Given the description of an element on the screen output the (x, y) to click on. 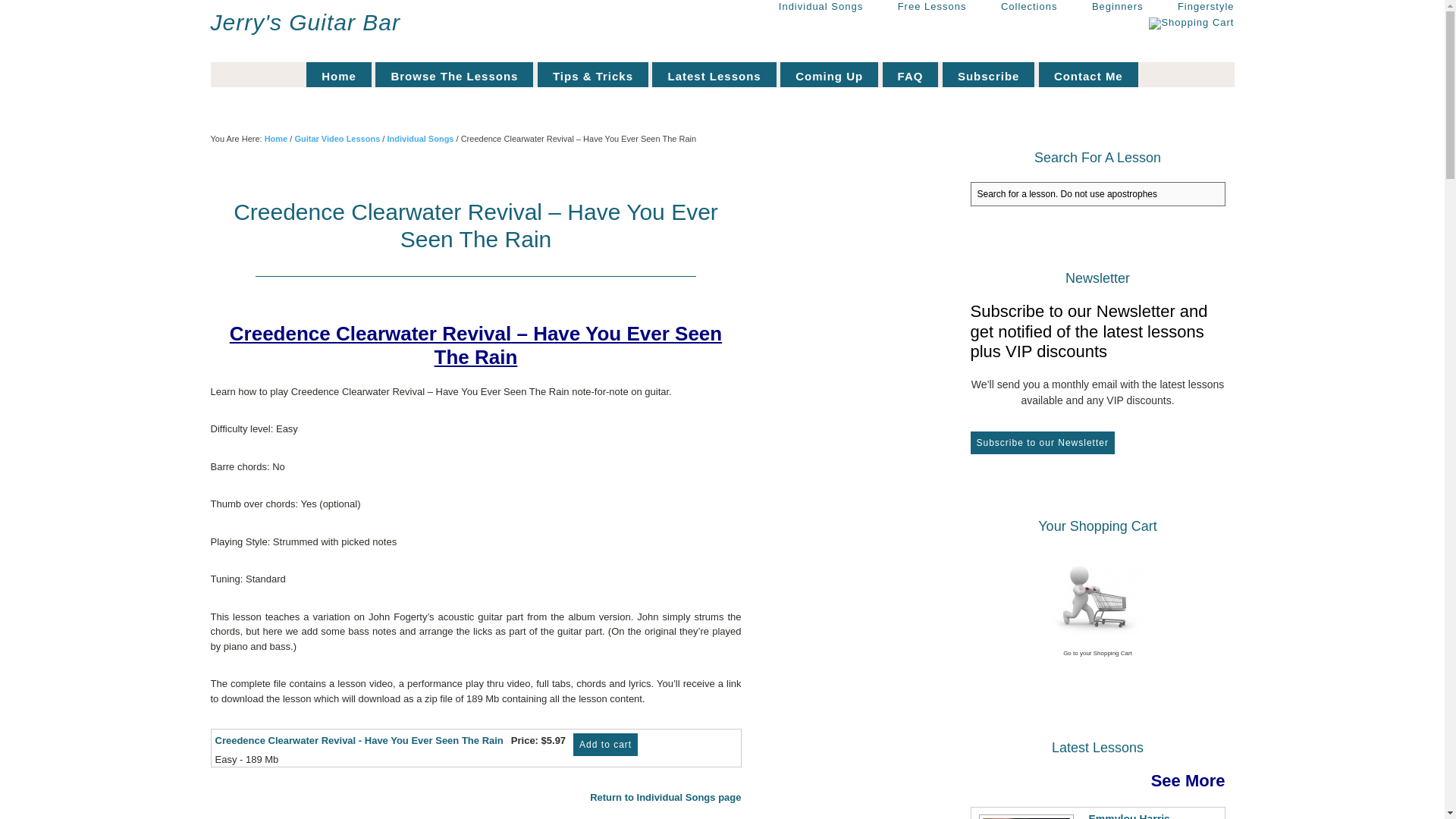
Latest Lessons (714, 74)
Collections (1014, 8)
Beginners (1101, 8)
Add to cart (605, 744)
Your Shopping Cart (1190, 23)
Jerry'S Guitar Bar (305, 22)
Fingerstyle (1190, 8)
Free Lessons (916, 8)
Browse The Lessons (453, 74)
Individual Songs (805, 8)
Home (338, 74)
Coming Up (828, 74)
